Given the description of an element on the screen output the (x, y) to click on. 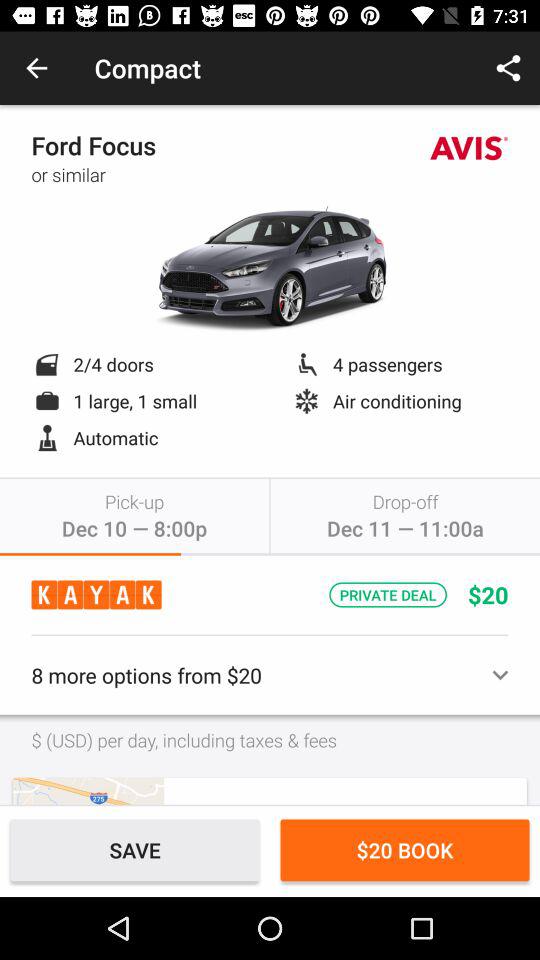
turn on the item next to the pick up drop item (88, 790)
